Given the description of an element on the screen output the (x, y) to click on. 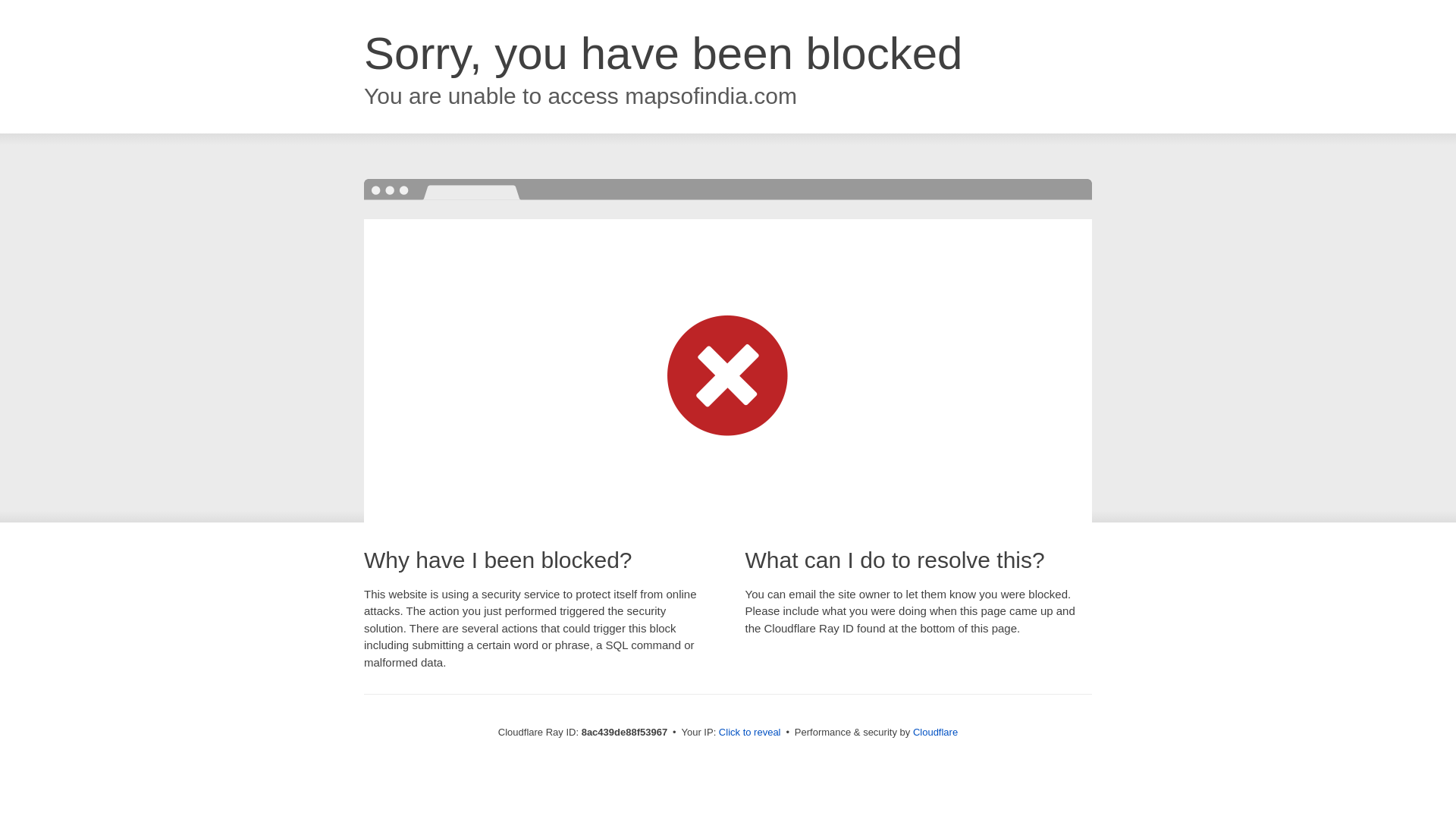
Cloudflare (935, 731)
Click to reveal (749, 732)
